Given the description of an element on the screen output the (x, y) to click on. 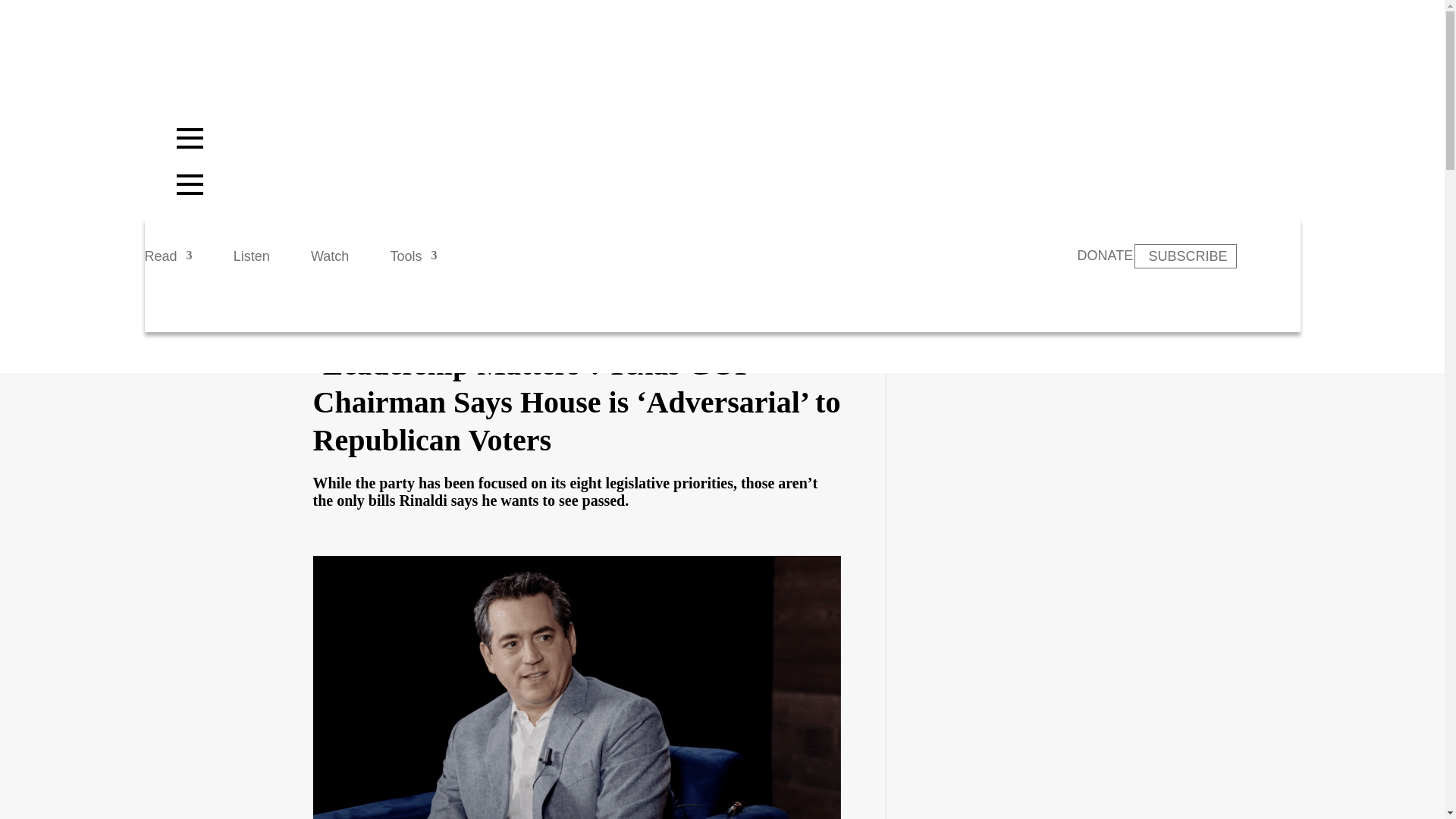
Listen (250, 262)
Read (168, 262)
DONATE (1104, 255)
Tools (413, 262)
STATE (331, 320)
SUBSCRIBE (1185, 256)
Watch (330, 262)
